Given the description of an element on the screen output the (x, y) to click on. 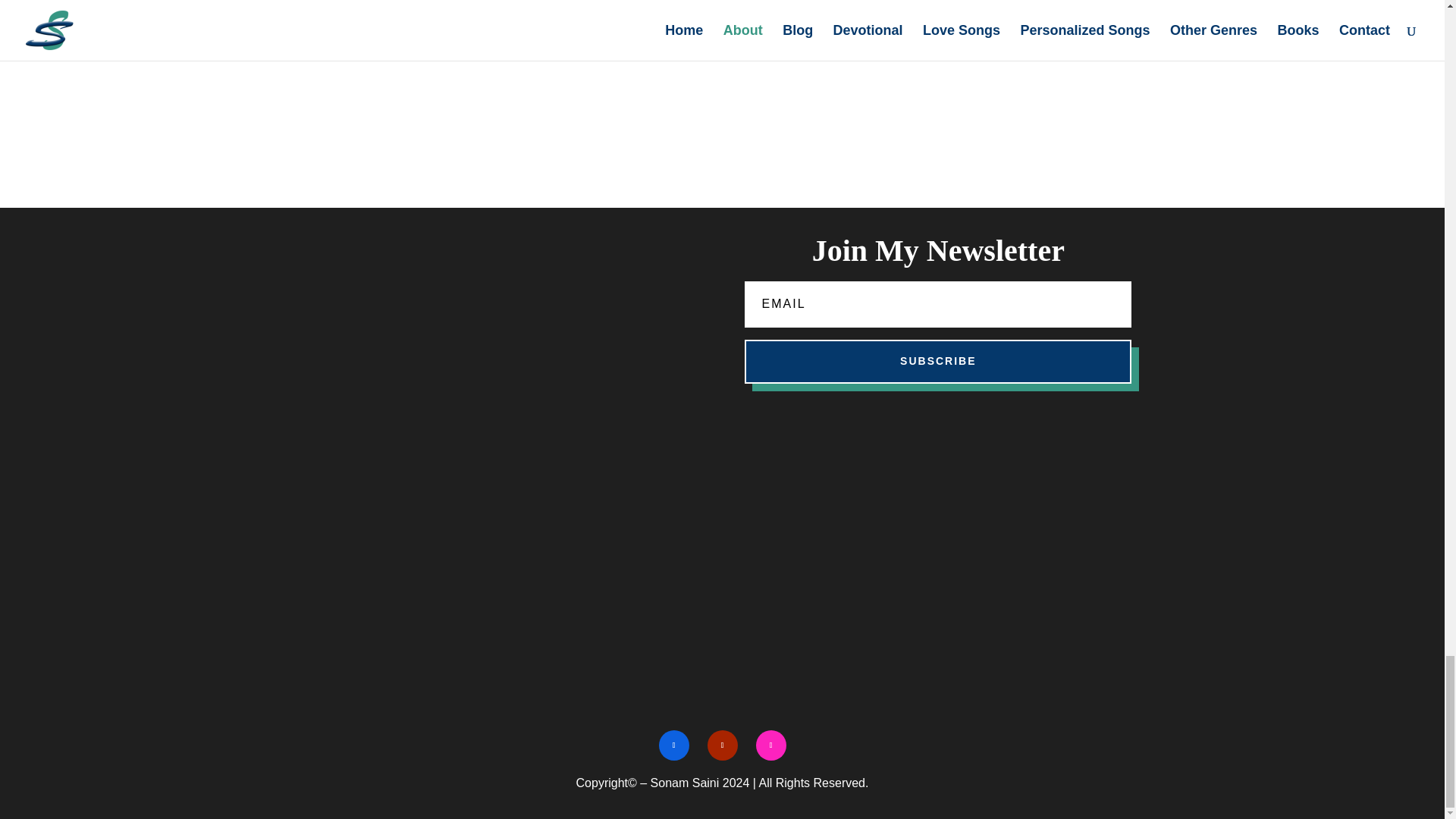
Follow on Youtube (721, 745)
Follow on Facebook (673, 745)
SUBSCRIBE (937, 361)
Follow on Instagram (770, 745)
